Given the description of an element on the screen output the (x, y) to click on. 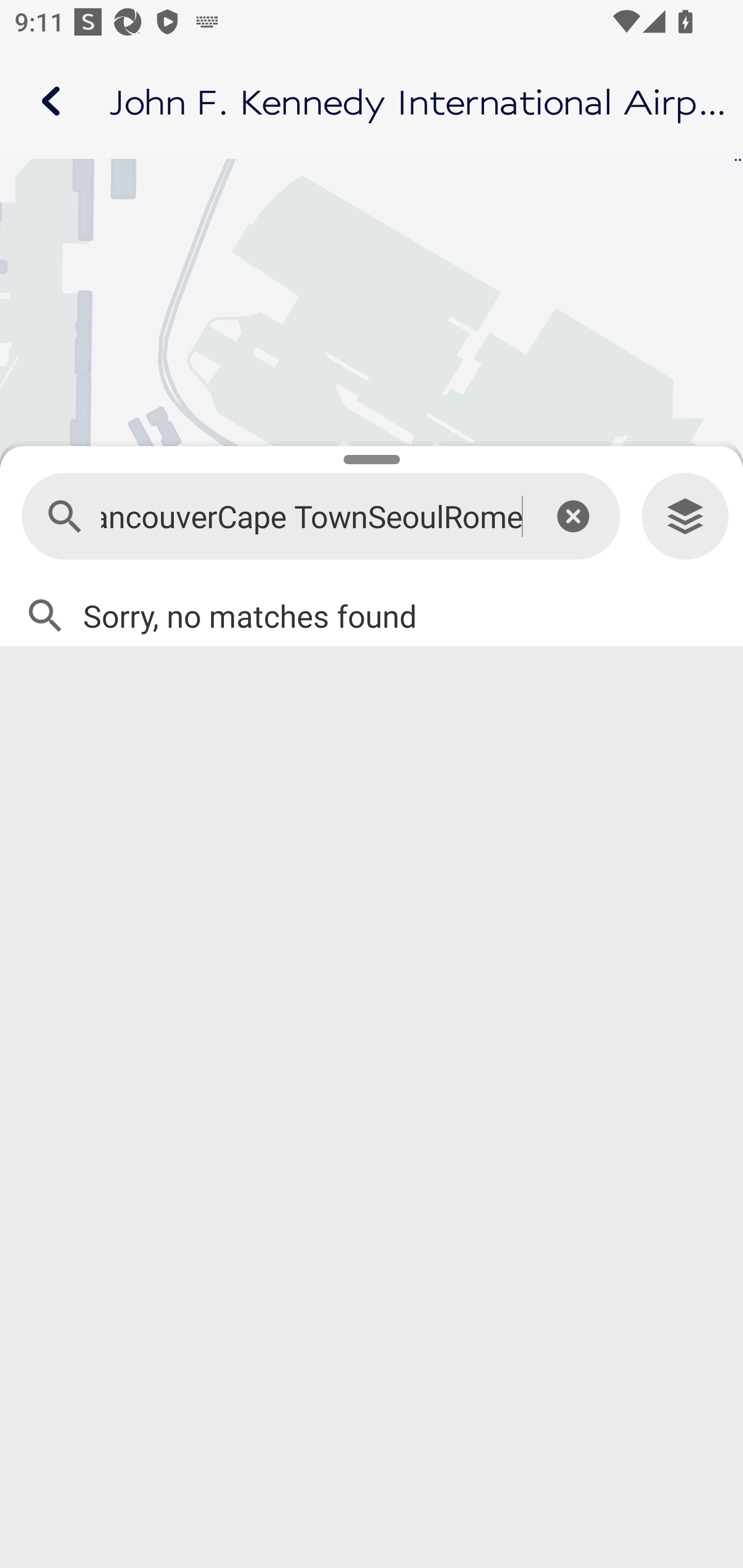
Airport map (371, 100)
MadridVancouverVancouverCape TownSeoulRome (311, 516)
Levels (684, 516)
This is an icon for clearing the text field. (573, 515)
